Given the description of an element on the screen output the (x, y) to click on. 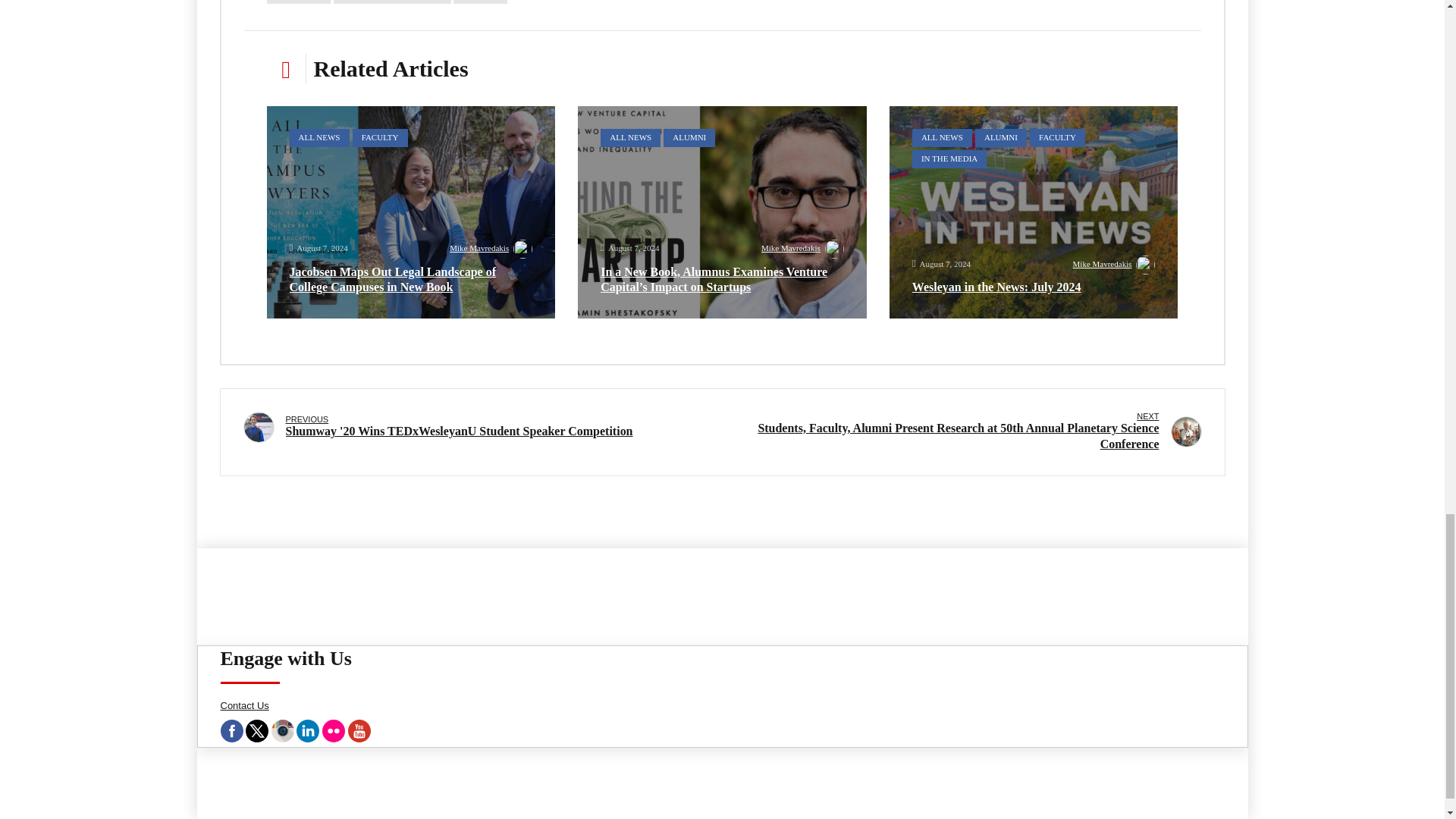
ALL NEWS (942, 137)
Mike Mavredakis (802, 249)
Mike Mavredakis (490, 249)
College Of East Asian Studies (392, 2)
ALUMNI (688, 137)
ALUMNI (1000, 137)
Wesleyan in the News: July 2024 (1033, 212)
IN THE MEDIA (949, 158)
Wesleyan in the News: July 2024 (996, 286)
